Given the description of an element on the screen output the (x, y) to click on. 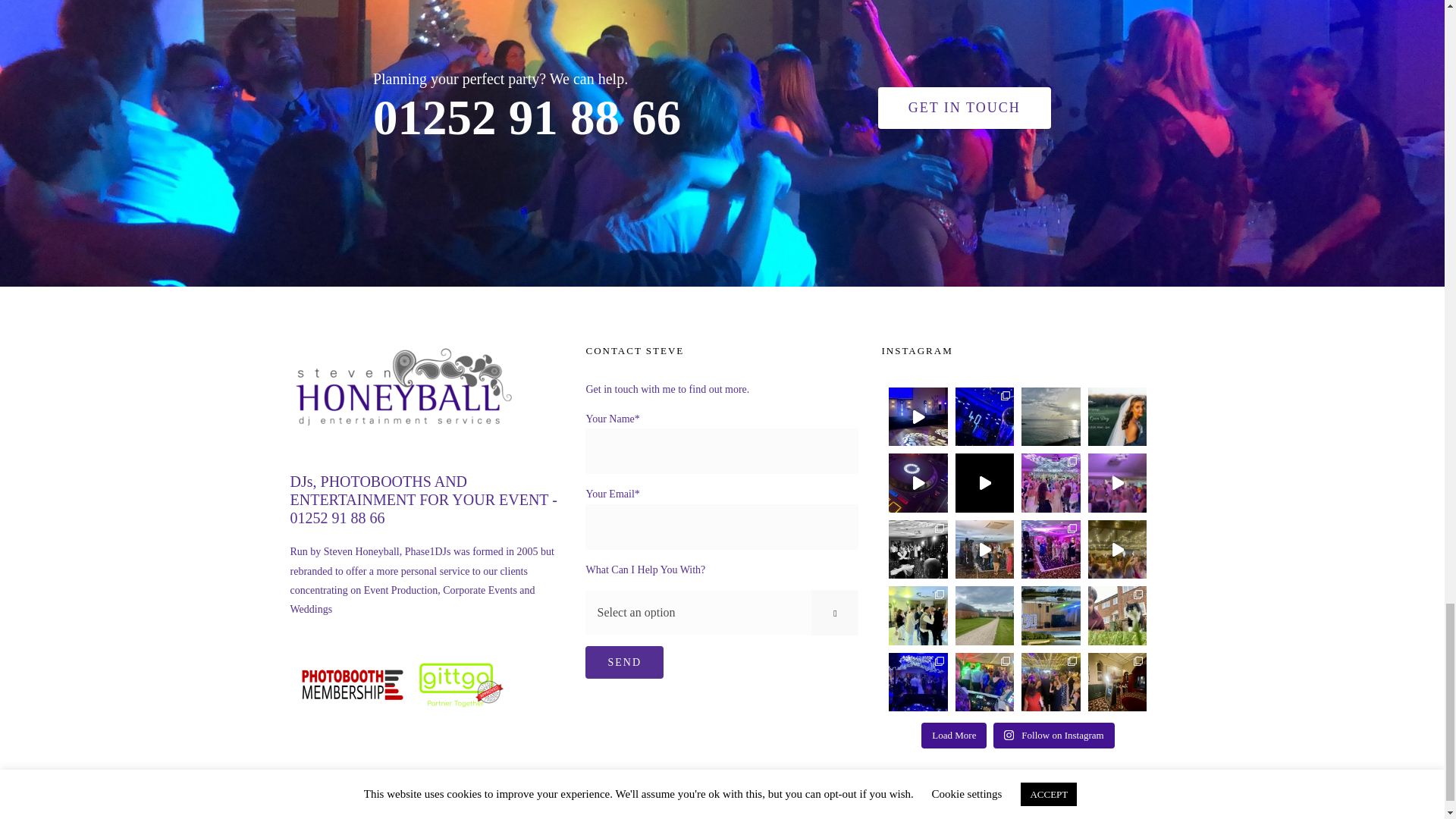
Send (624, 662)
